Given the description of an element on the screen output the (x, y) to click on. 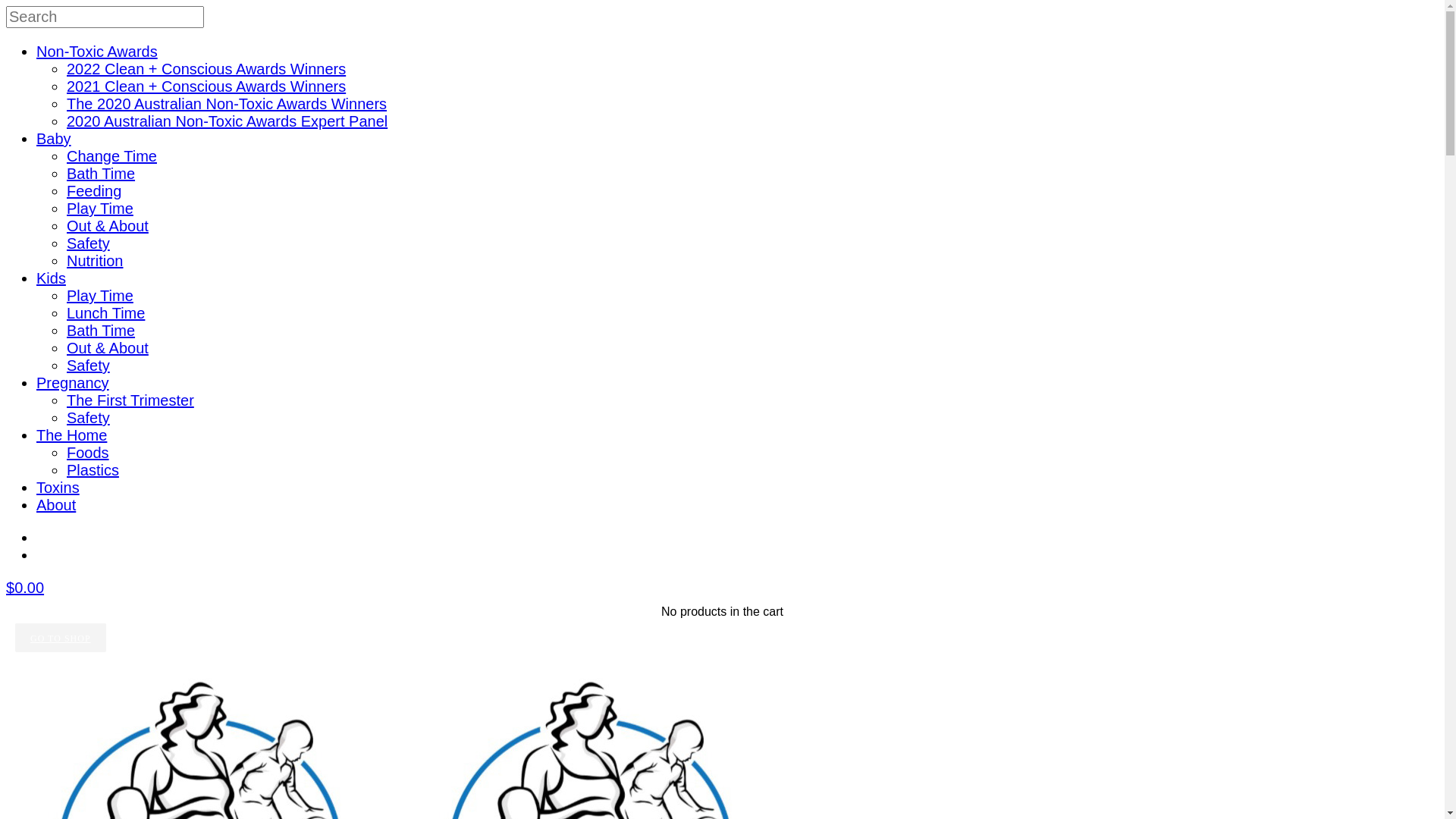
About Element type: text (55, 504)
Pregnancy Element type: text (72, 382)
2022 Clean + Conscious Awards Winners Element type: text (205, 68)
Kids Element type: text (50, 277)
Change Time Element type: text (111, 155)
2021 Clean + Conscious Awards Winners Element type: text (205, 86)
Nutrition Element type: text (94, 260)
The 2020 Australian Non-Toxic Awards Winners Element type: text (226, 103)
The Home Element type: text (71, 434)
The First Trimester Element type: text (130, 400)
$0.00 Element type: text (24, 587)
Non-Toxic Awards Element type: text (96, 51)
Safety Element type: text (87, 417)
Lunch Time Element type: text (105, 312)
Safety Element type: text (87, 365)
Foods Element type: text (87, 452)
Bath Time Element type: text (100, 330)
Out & About Element type: text (107, 225)
Safety Element type: text (87, 243)
GO TO SHOP Element type: text (60, 637)
Play Time Element type: text (99, 208)
Baby Element type: text (53, 138)
2020 Australian Non-Toxic Awards Expert Panel Element type: text (226, 120)
Play Time Element type: text (99, 295)
Toxins Element type: text (57, 487)
Bath Time Element type: text (100, 173)
Out & About Element type: text (107, 347)
Plastics Element type: text (92, 469)
Feeding Element type: text (93, 190)
